Given the description of an element on the screen output the (x, y) to click on. 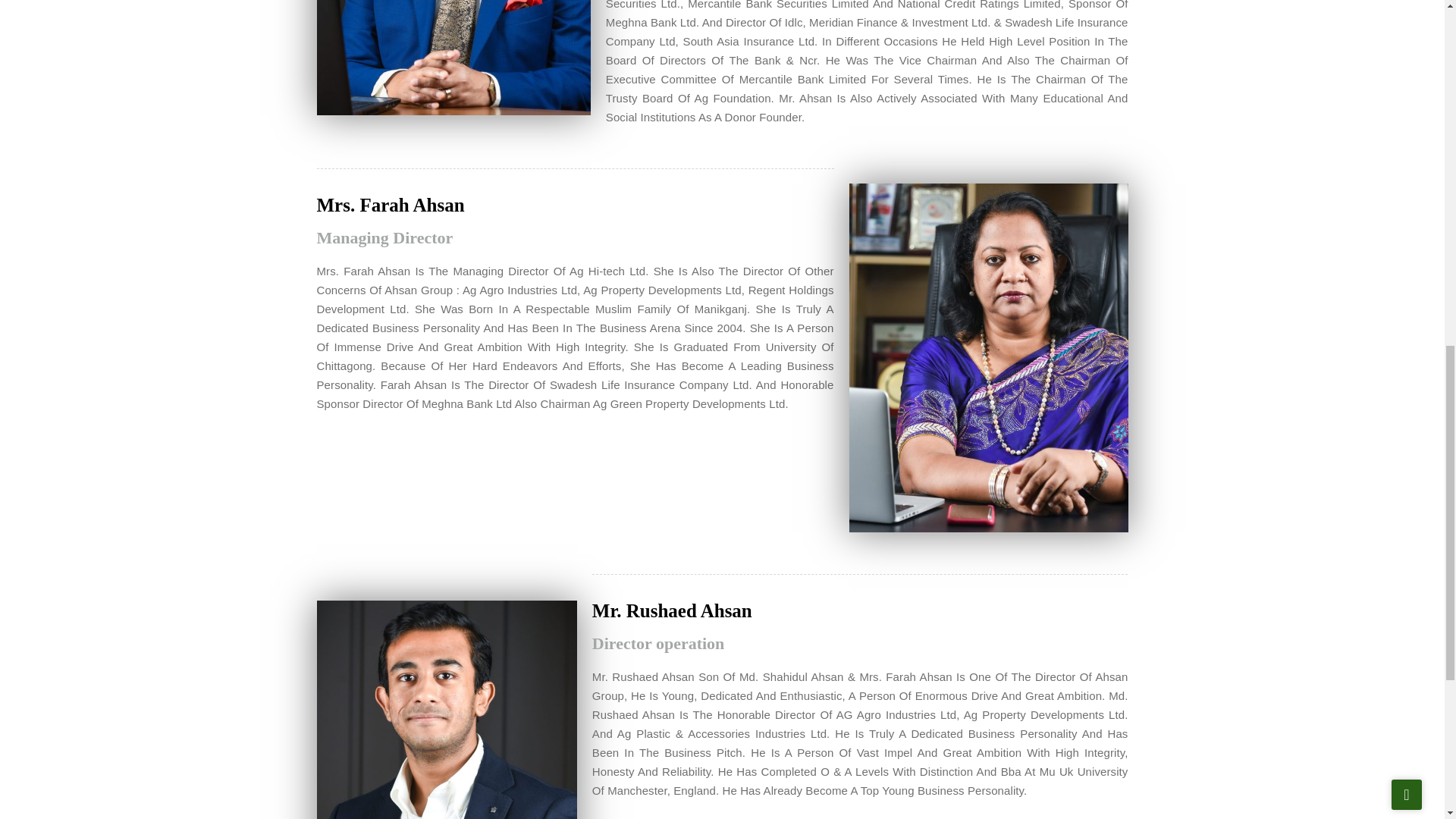
HRI (454, 57)
HRI (446, 709)
HRI (988, 357)
